Given the description of an element on the screen output the (x, y) to click on. 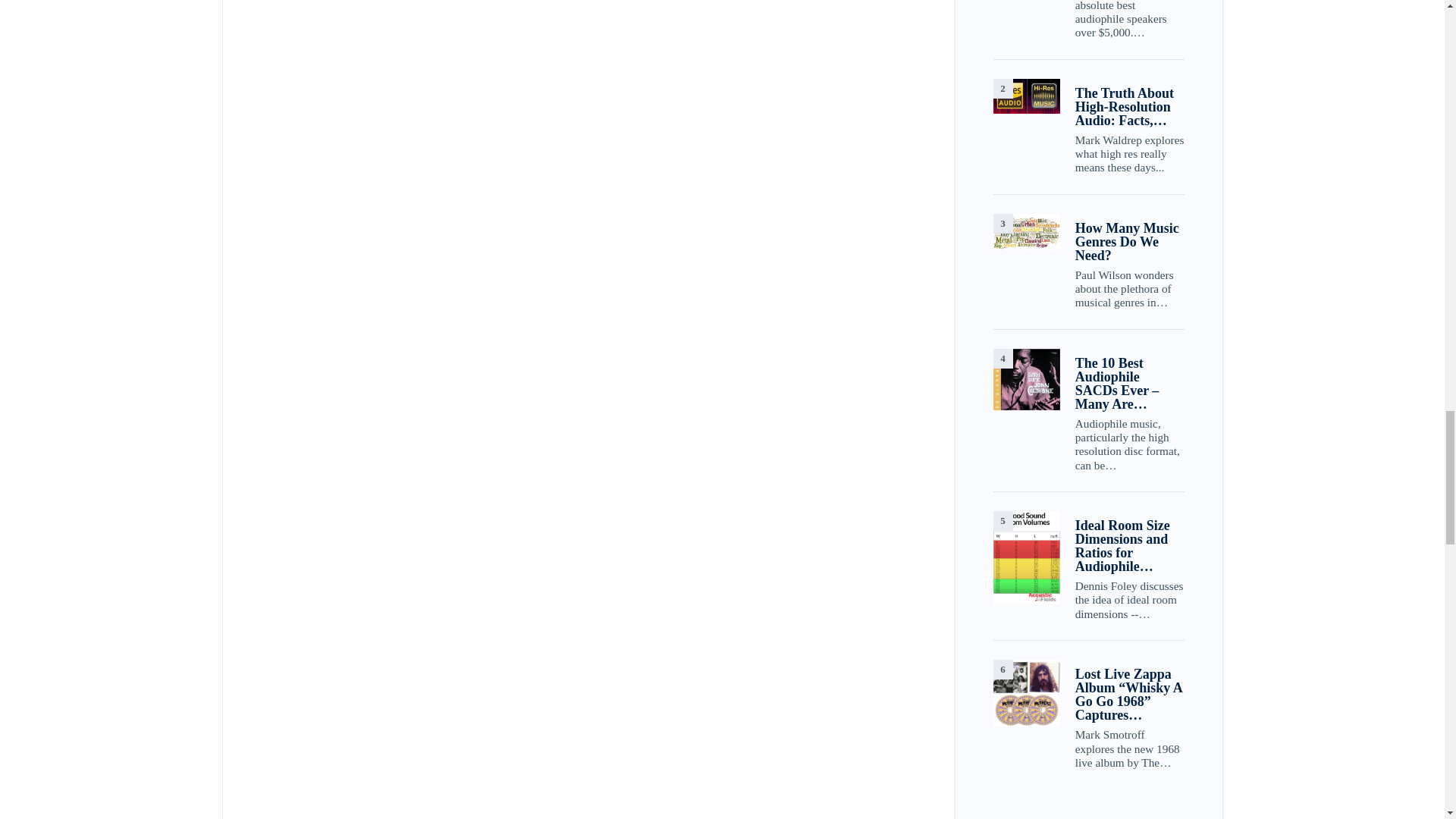
How Many Music Genres Do We Need? (1025, 231)
The 10 Best Audiophile SACDs Ever - Many Are Out Of Print (1025, 379)
